Given the description of an element on the screen output the (x, y) to click on. 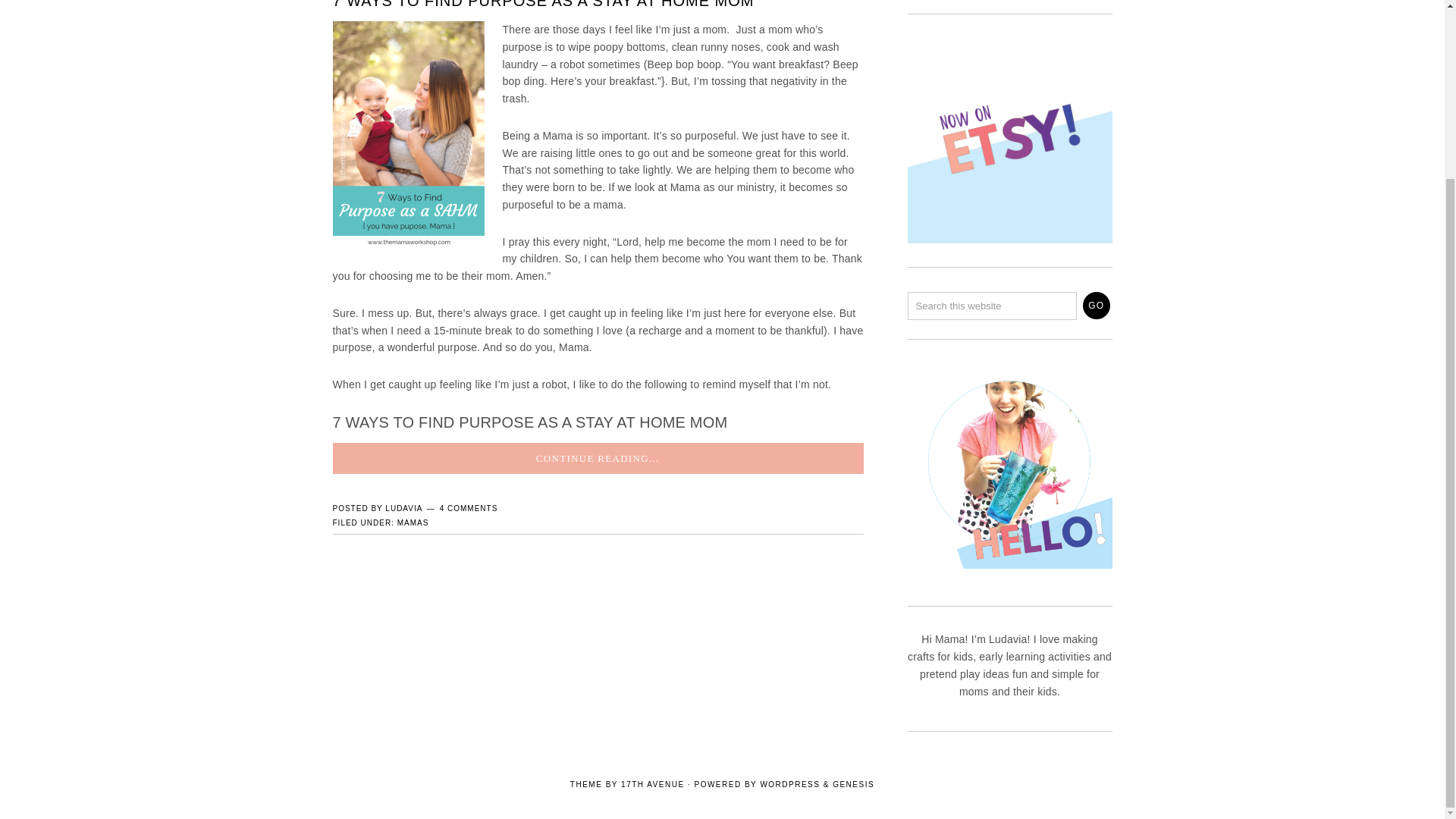
WORDPRESS (789, 784)
GO (1096, 305)
GENESIS (853, 784)
MAMAS (413, 522)
LUDAVIA (403, 508)
4 COMMENTS (468, 508)
GO (1096, 305)
GO (1096, 305)
7 WAYS TO FIND PURPOSE AS A STAY AT HOME MOM (542, 4)
17TH AVENUE (652, 784)
